Given the description of an element on the screen output the (x, y) to click on. 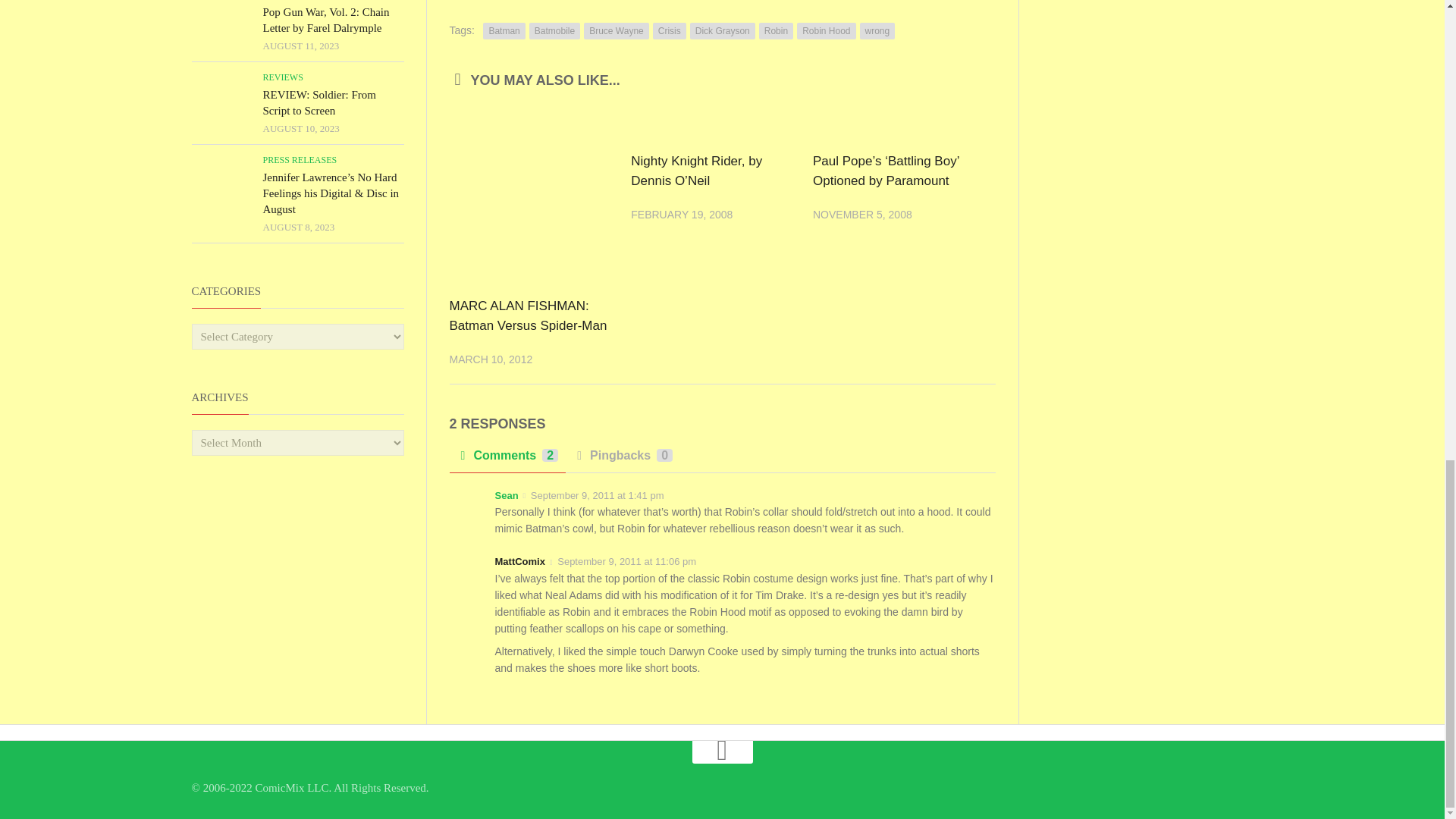
Dick Grayson (722, 30)
Robin (775, 30)
Robin Hood (826, 30)
Batman (503, 30)
Bruce Wayne (616, 30)
Batmobile (554, 30)
Crisis (668, 30)
